Given the description of an element on the screen output the (x, y) to click on. 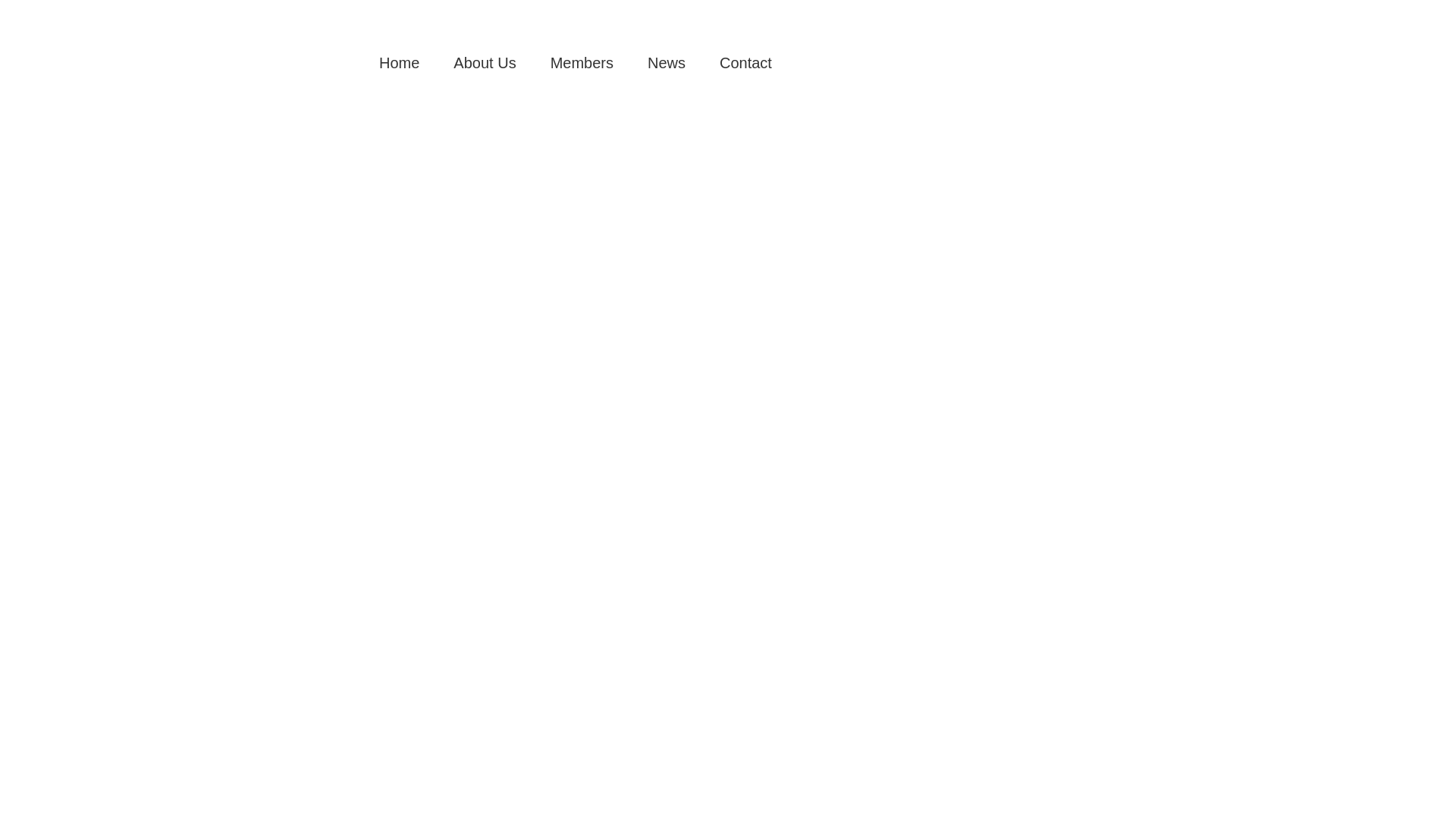
www.krazykevin.com.au Element type: text (310, 7)
Home Element type: text (399, 62)
WebWave Element type: text (525, 7)
News Element type: text (666, 62)
Contact Element type: text (745, 62)
Working Websites Element type: text (370, 7)
About Us Element type: text (484, 62)
Toowoomba Business Referral Group Logo Element type: hover (113, 24)
Members Element type: text (581, 62)
TRG Facebook Element type: hover (1364, 62)
